Given the description of an element on the screen output the (x, y) to click on. 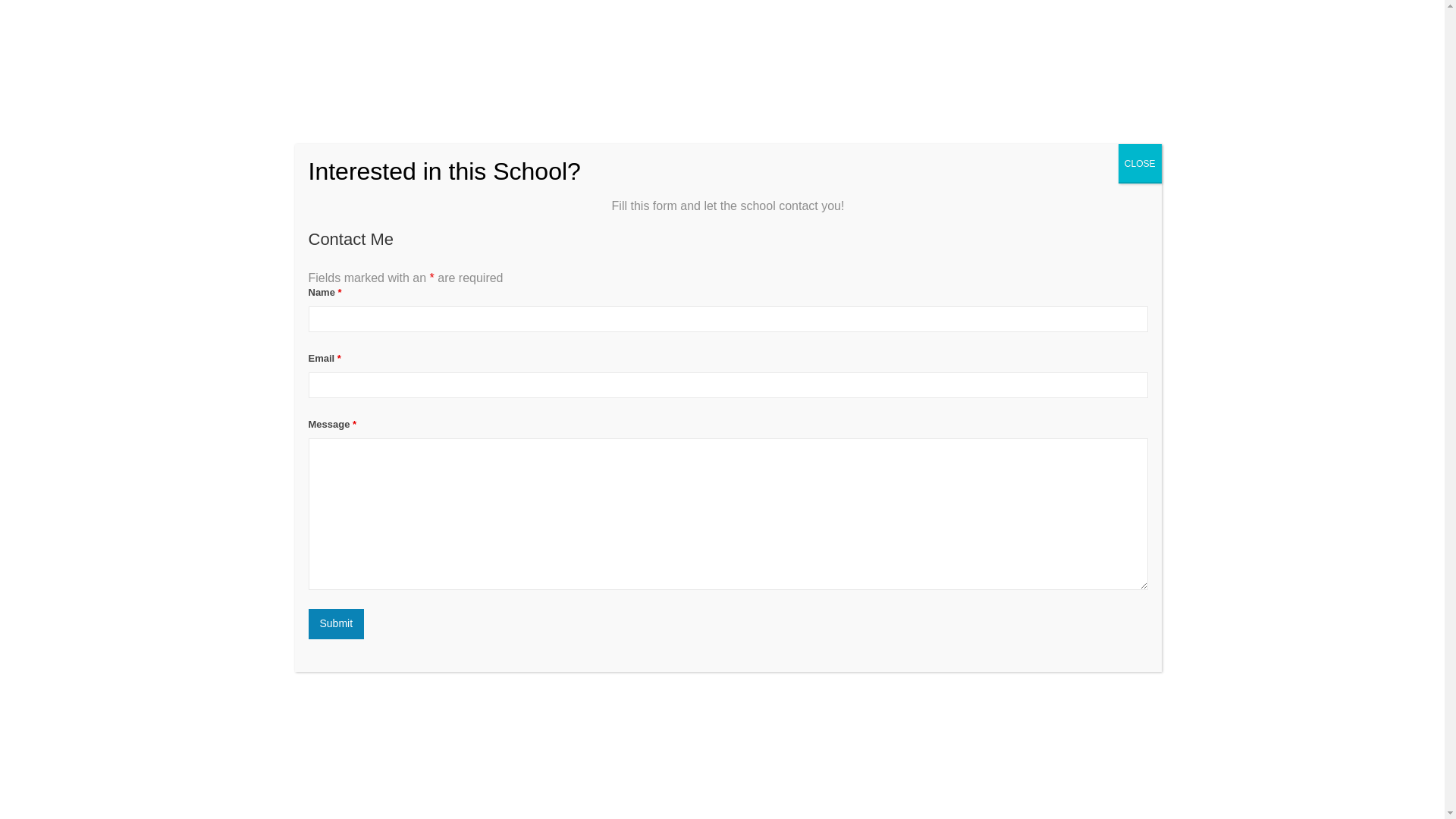
MBA RANKINGS (852, 30)
Not rated yet! (307, 325)
Seoul (377, 355)
BLOG (1061, 30)
CLOSE (1139, 163)
Submit (335, 624)
Description (308, 457)
Post New Review (402, 457)
MBA ACCREDITATIONS (967, 30)
Share (1128, 390)
MBA Reviews (357, 29)
Submit (335, 624)
South Korea (330, 355)
Share (1128, 390)
CONTACT (1118, 30)
